Given the description of an element on the screen output the (x, y) to click on. 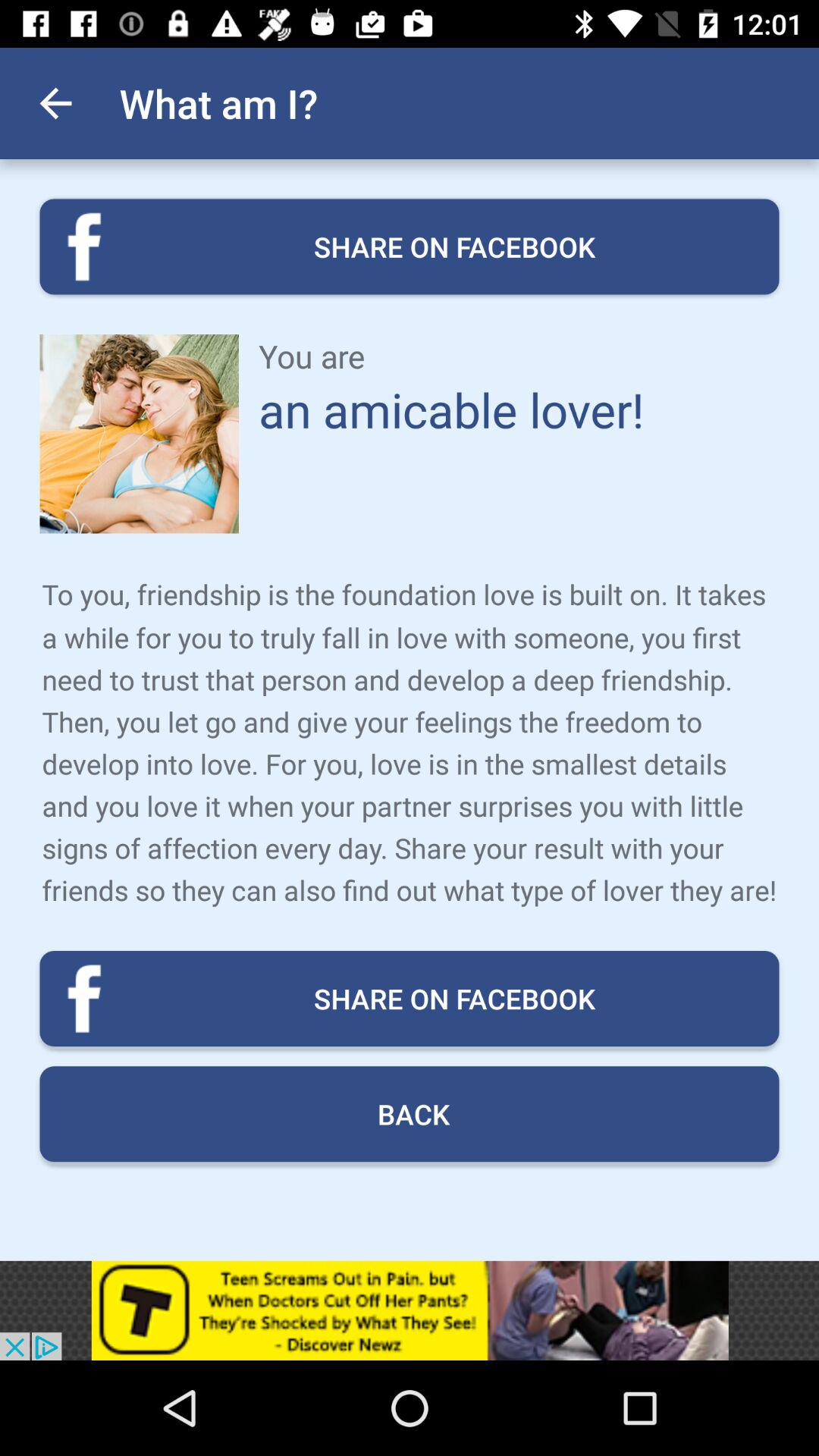
advertisements to watch (409, 1310)
